Given the description of an element on the screen output the (x, y) to click on. 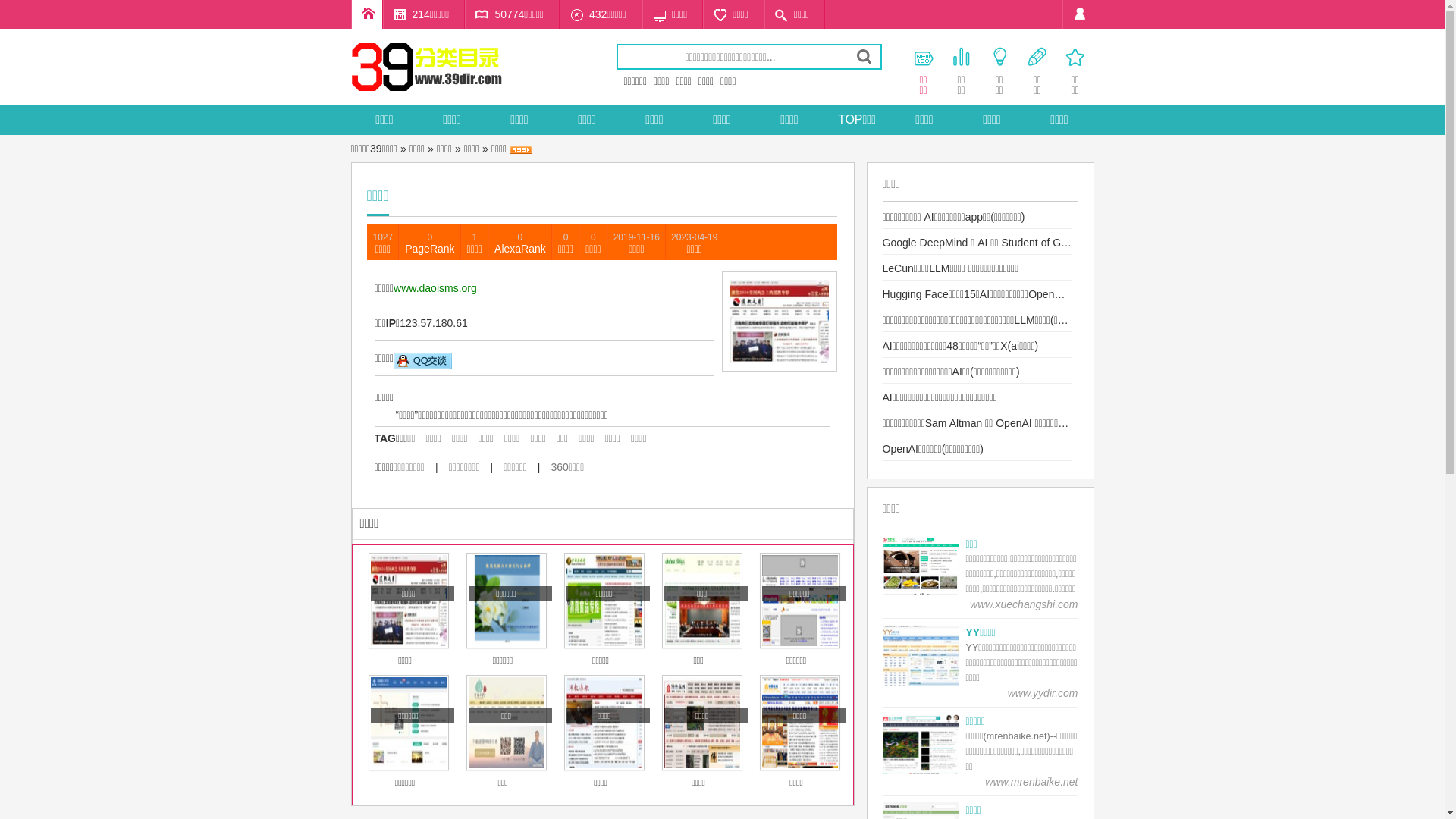
www.daoisms.org Element type: text (434, 288)
www.xuechangshi.com Element type: text (1023, 604)
www.mrenbaike.net Element type: text (1031, 781)
www.yydir.com Element type: text (1042, 693)
